Given the description of an element on the screen output the (x, y) to click on. 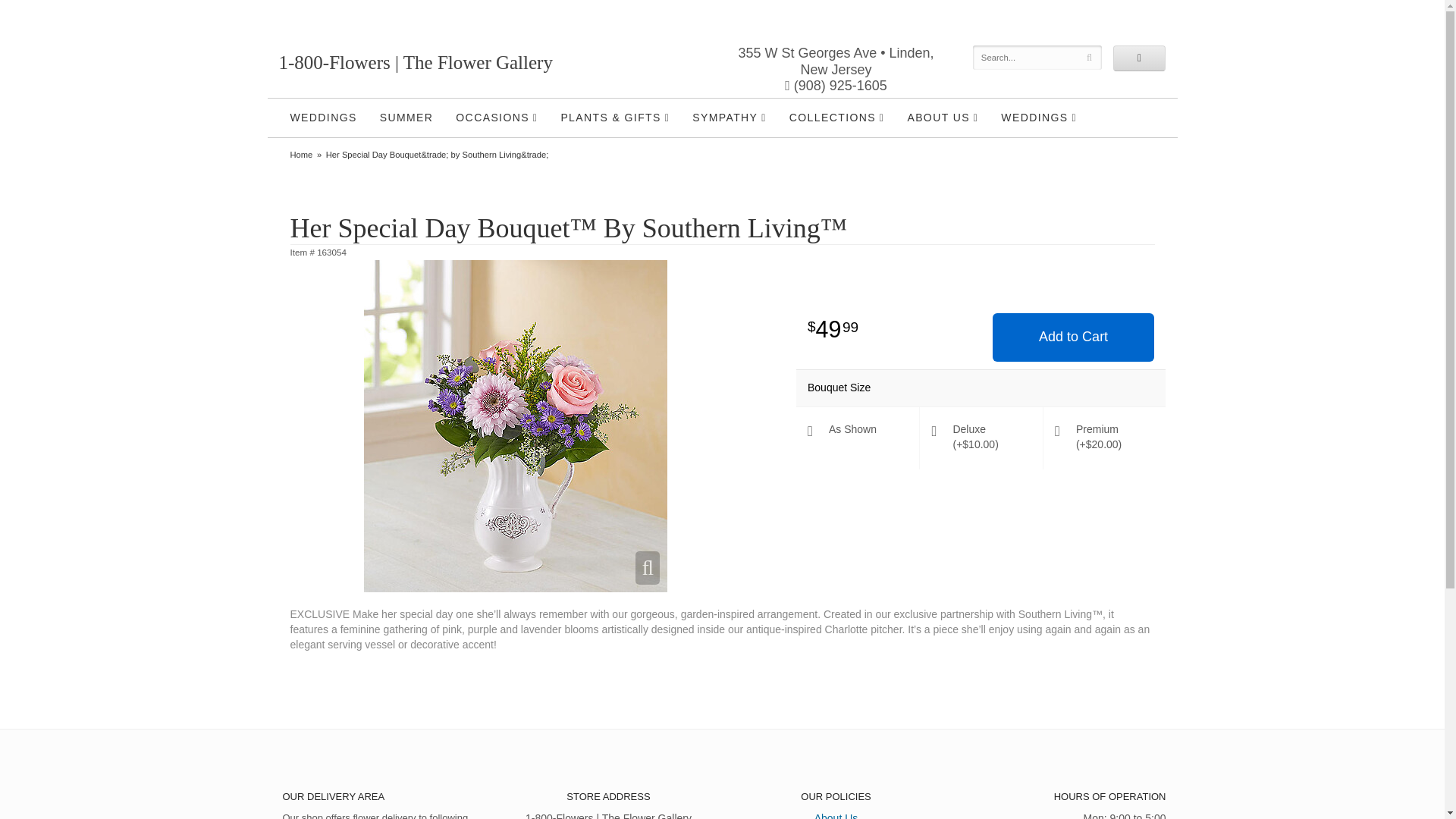
WEDDINGS (323, 117)
OCCASIONS (496, 117)
SYMPATHY (729, 117)
COLLECTIONS (836, 117)
SUMMER (406, 117)
